Given the description of an element on the screen output the (x, y) to click on. 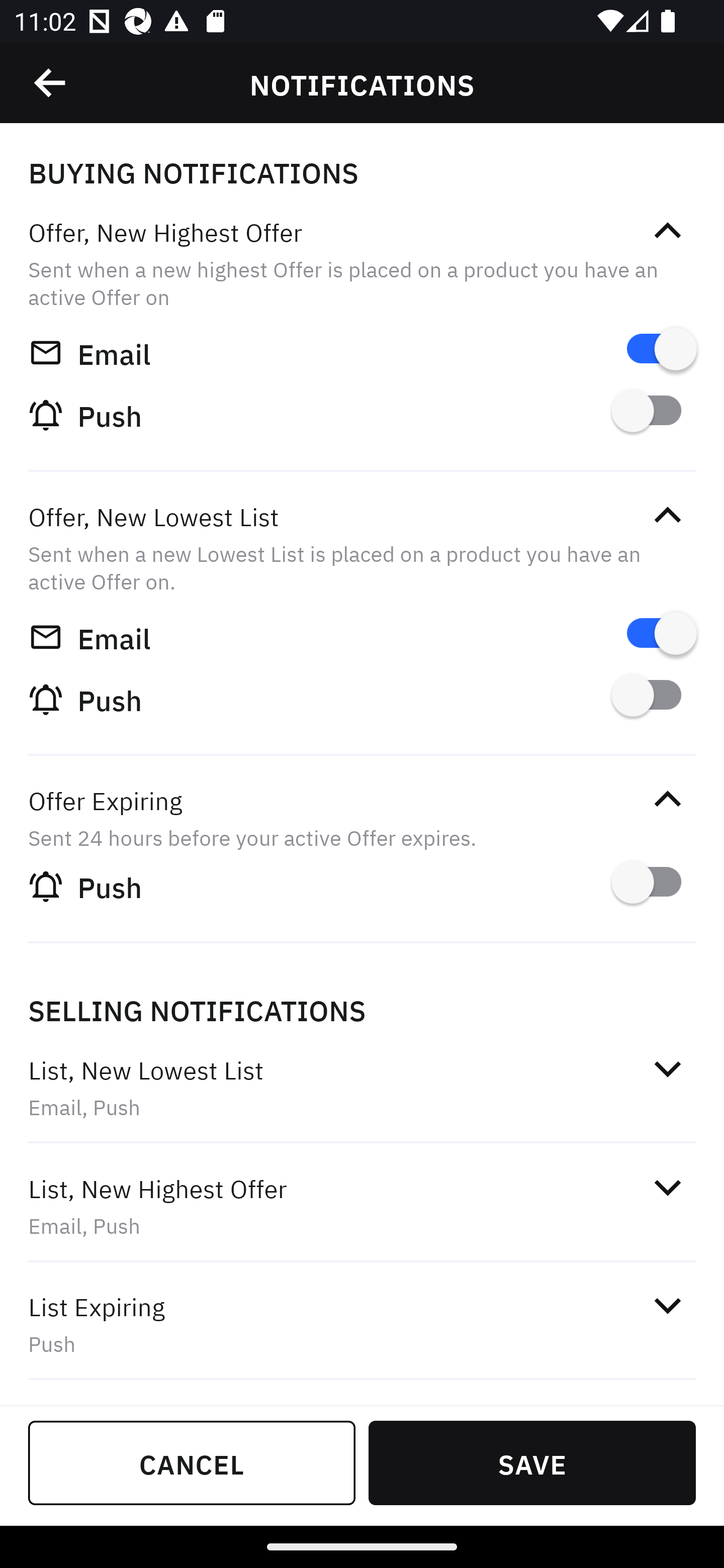
 (50, 83)
 (667, 231)
 (667, 514)
 (667, 799)
List, New Lowest List  Email, Push (361, 1087)
 (667, 1068)
List, New Highest Offer  Email, Push (361, 1206)
 (667, 1187)
List Expiring  Push (361, 1323)
 (667, 1305)
CANCEL (191, 1462)
SAVE (531, 1462)
